Given the description of an element on the screen output the (x, y) to click on. 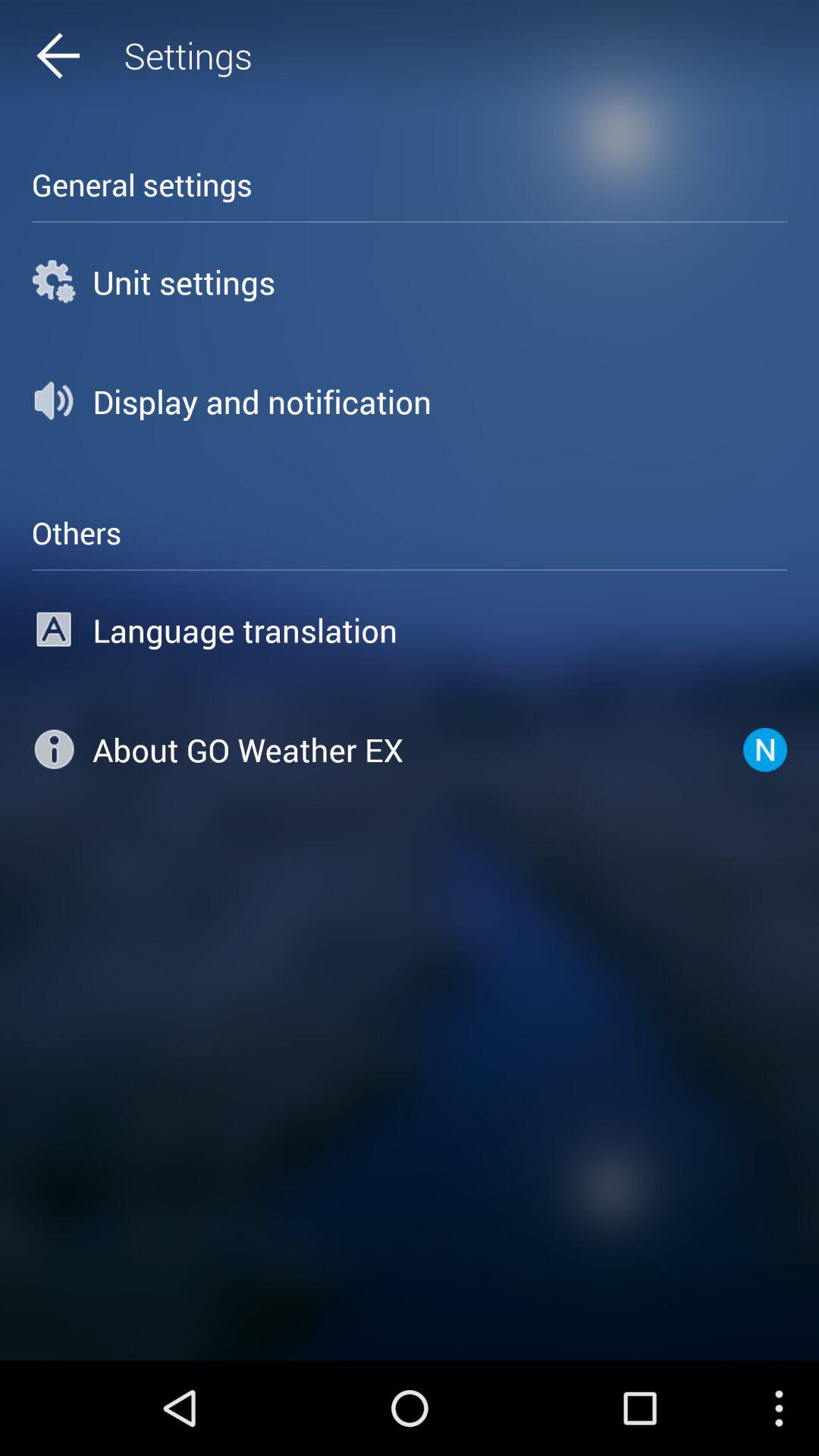
launch the display and notification item (409, 401)
